Given the description of an element on the screen output the (x, y) to click on. 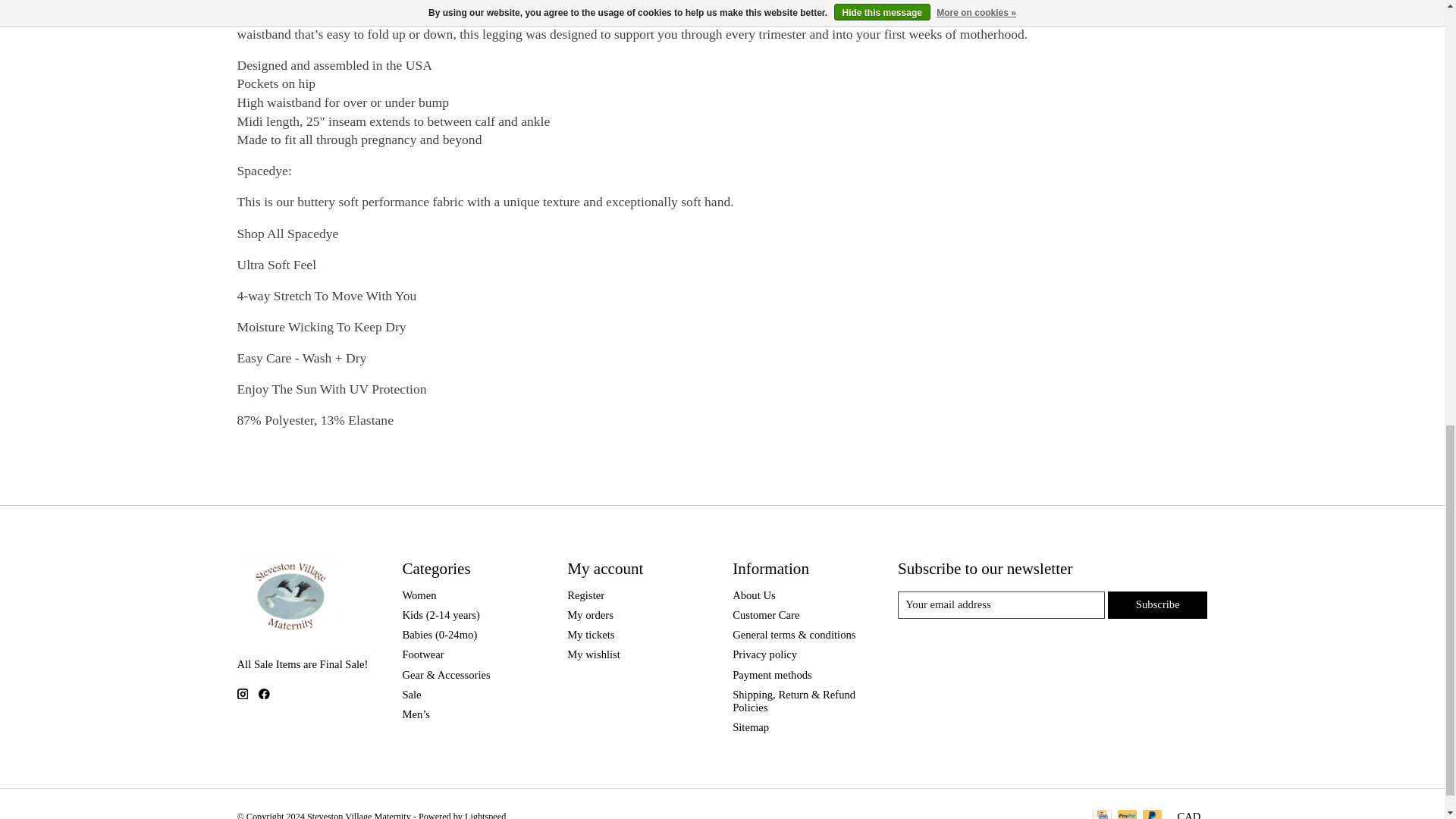
My wishlist (593, 654)
My tickets (590, 634)
Register (585, 594)
My orders (589, 614)
